Given the description of an element on the screen output the (x, y) to click on. 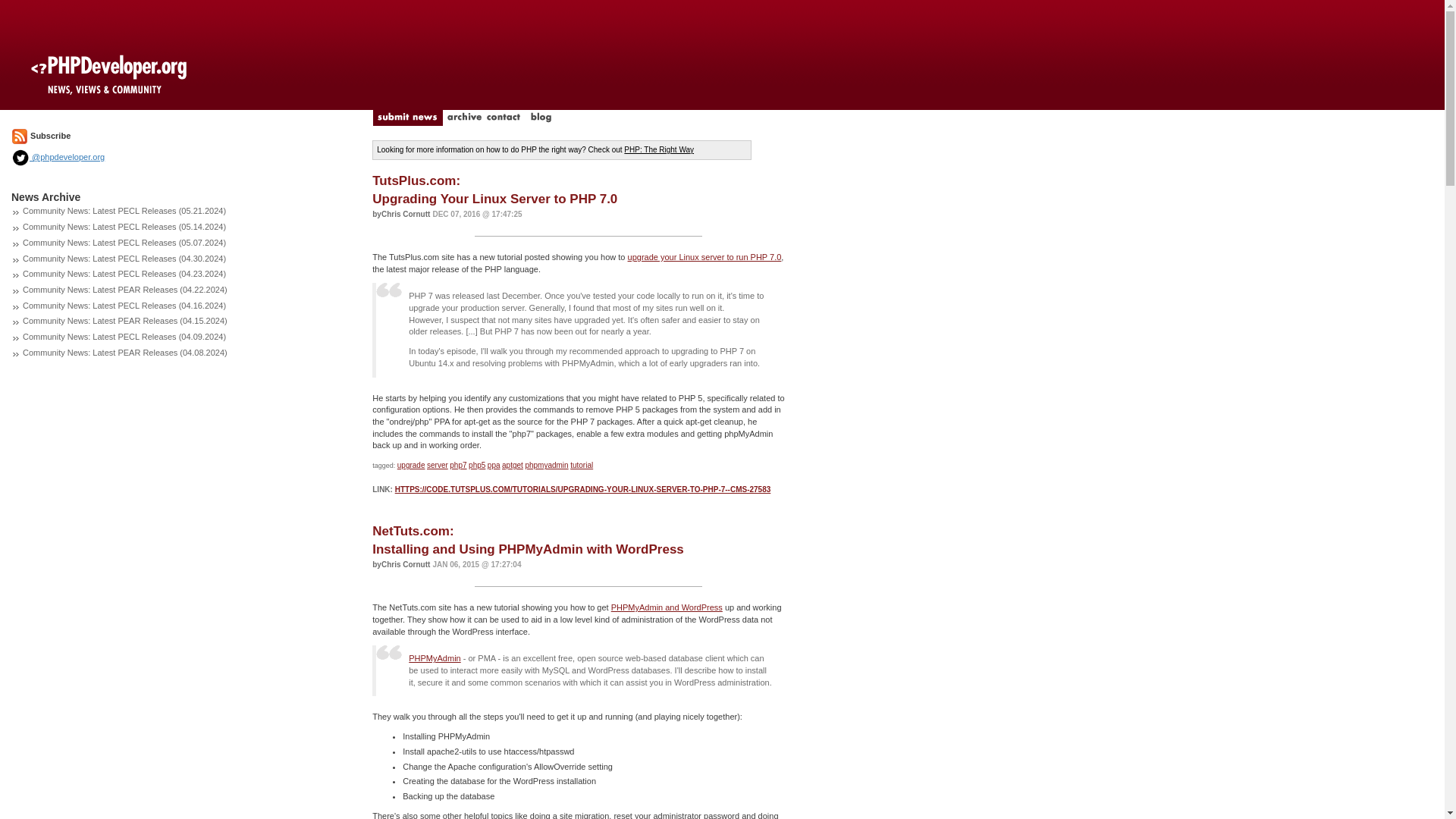
tutorial (581, 465)
upgrade your Linux server to run PHP 7.0 (704, 256)
PHPMyAdmin and WordPress (666, 606)
aptget (512, 465)
ppa (493, 465)
php7 (457, 465)
PHPMyAdmin (434, 657)
upgrade (494, 189)
server (411, 465)
php5 (437, 465)
phpmyadmin (476, 465)
PHP: The Right Way (545, 465)
